Given the description of an element on the screen output the (x, y) to click on. 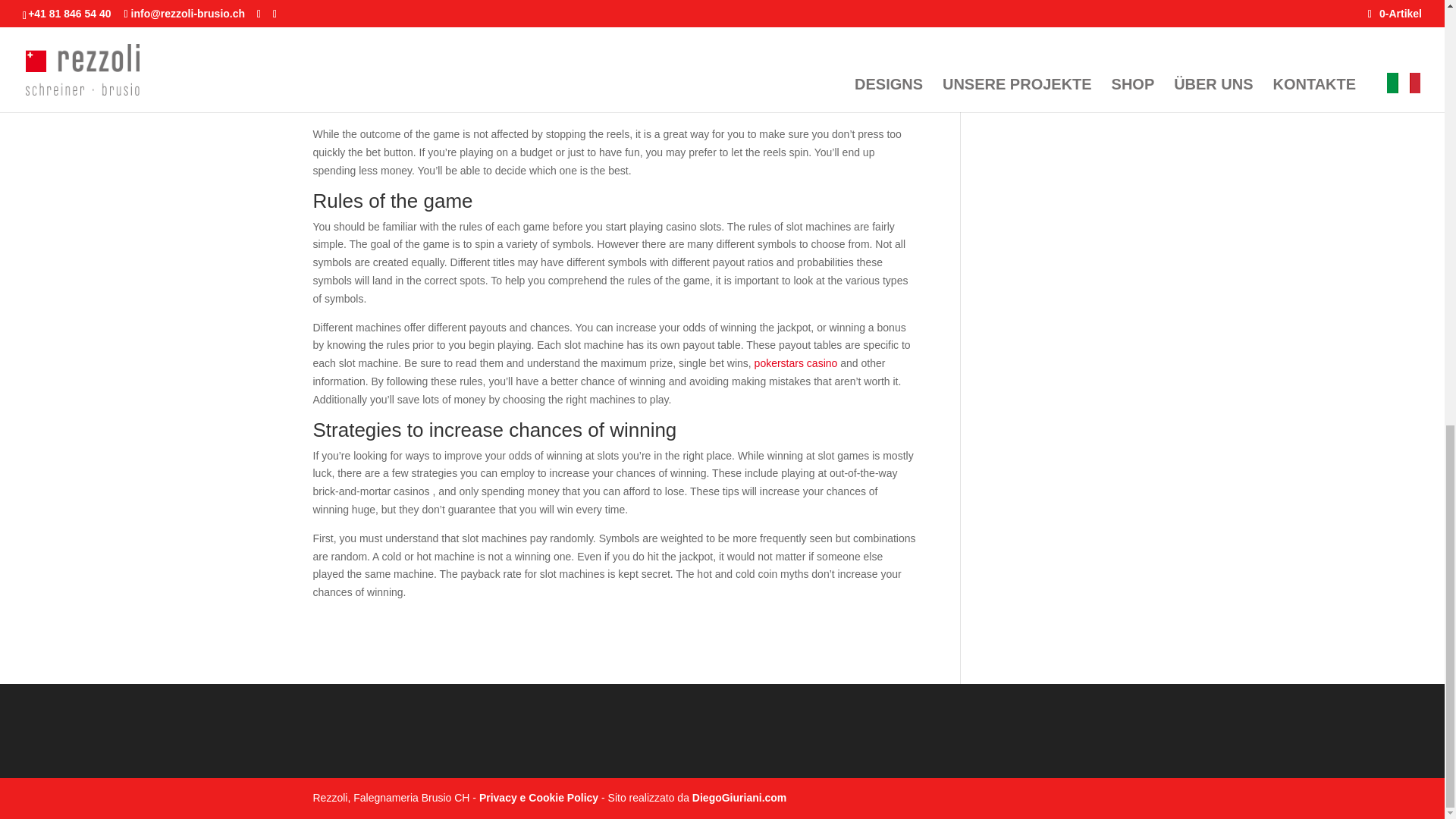
pokerstars casino (796, 363)
DiegoGiuriani.com (739, 797)
Privacy e Cookie Policy (538, 797)
